Given the description of an element on the screen output the (x, y) to click on. 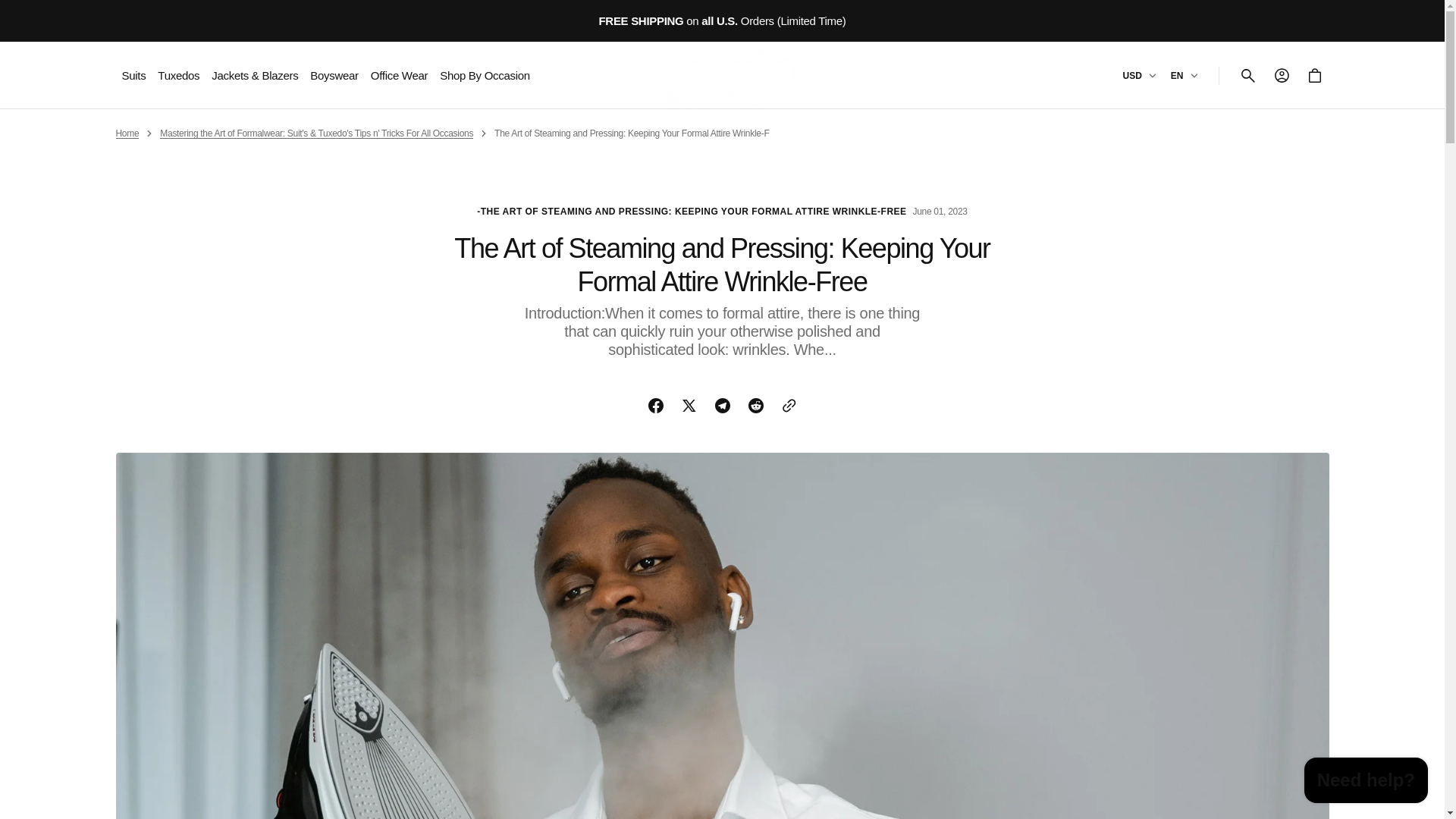
Shopify online store chat (1366, 781)
Boyswear (334, 74)
Office Wear (399, 74)
Office Wear (399, 74)
Boyswear (334, 74)
Shop By Occasion (484, 74)
Home (126, 132)
Suits (132, 74)
Tuxedos (178, 74)
Home (126, 132)
Tuxedos (178, 74)
Shop By Occasion (484, 74)
Cart (1315, 75)
